Given the description of an element on the screen output the (x, y) to click on. 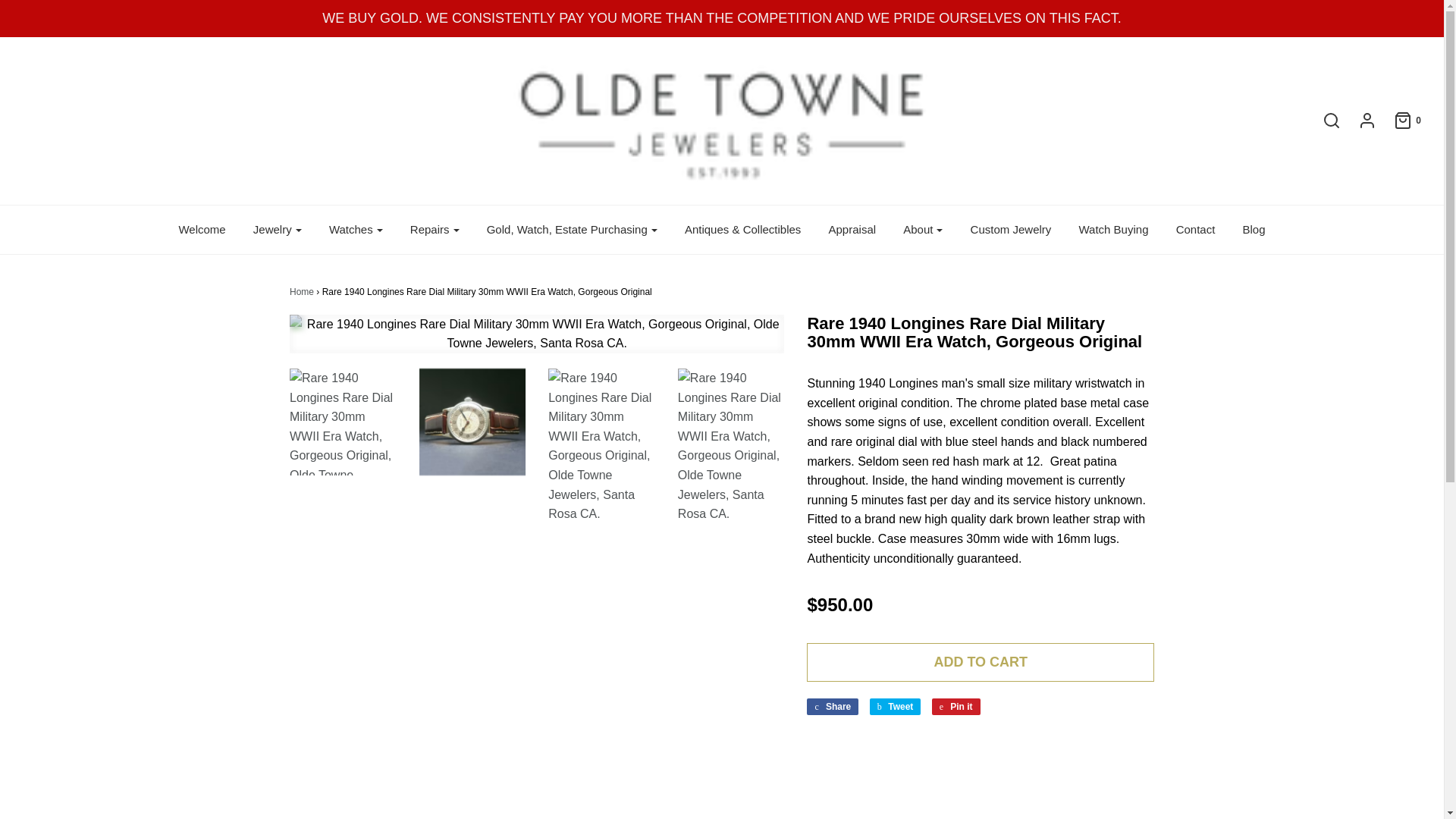
Search (1101, 5)
Search (1323, 120)
Log in (1358, 120)
Back to the frontpage (301, 291)
Cart (1399, 120)
